Given the description of an element on the screen output the (x, y) to click on. 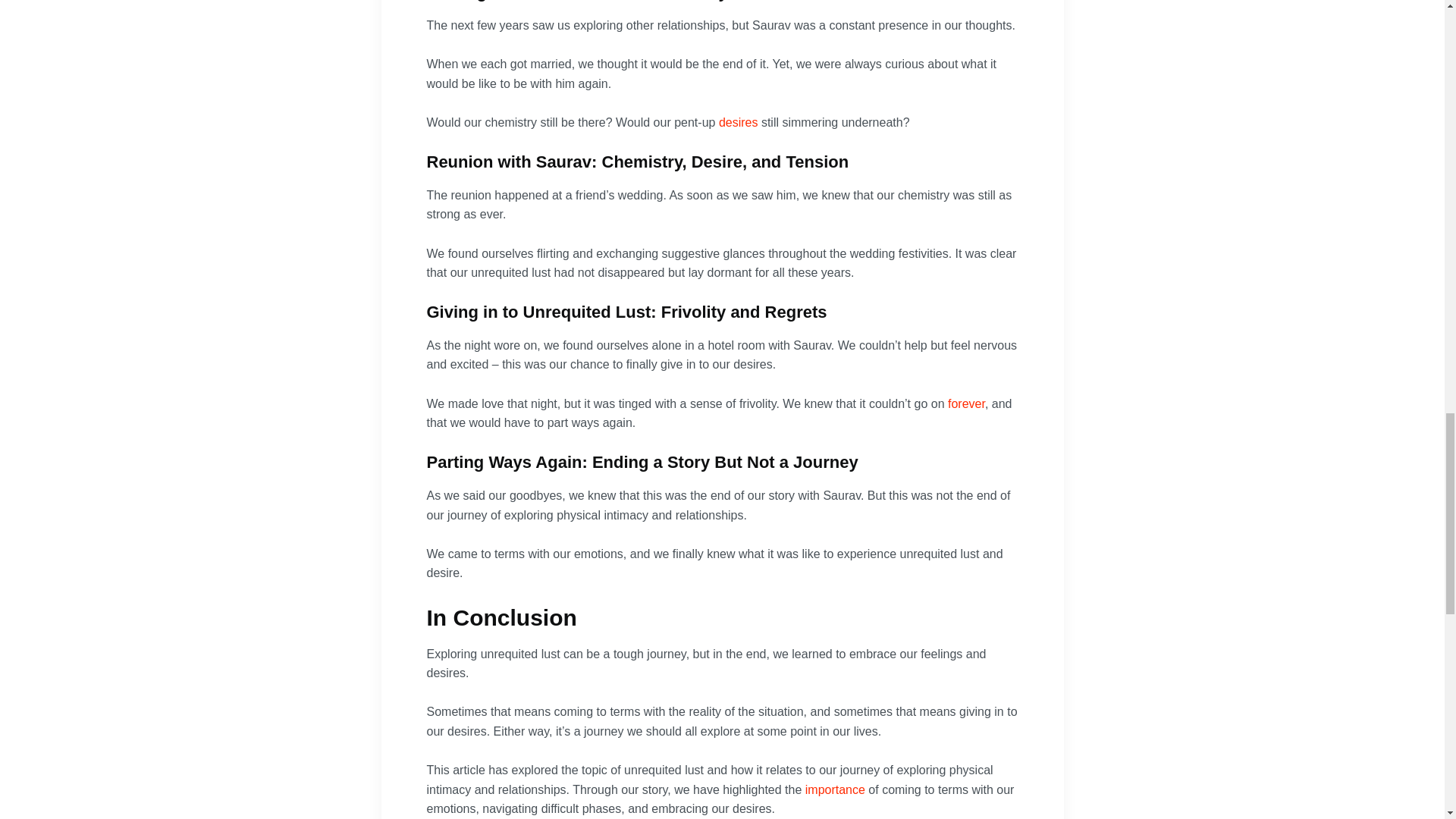
desires (738, 122)
forever (966, 403)
importance (834, 789)
